Given the description of an element on the screen output the (x, y) to click on. 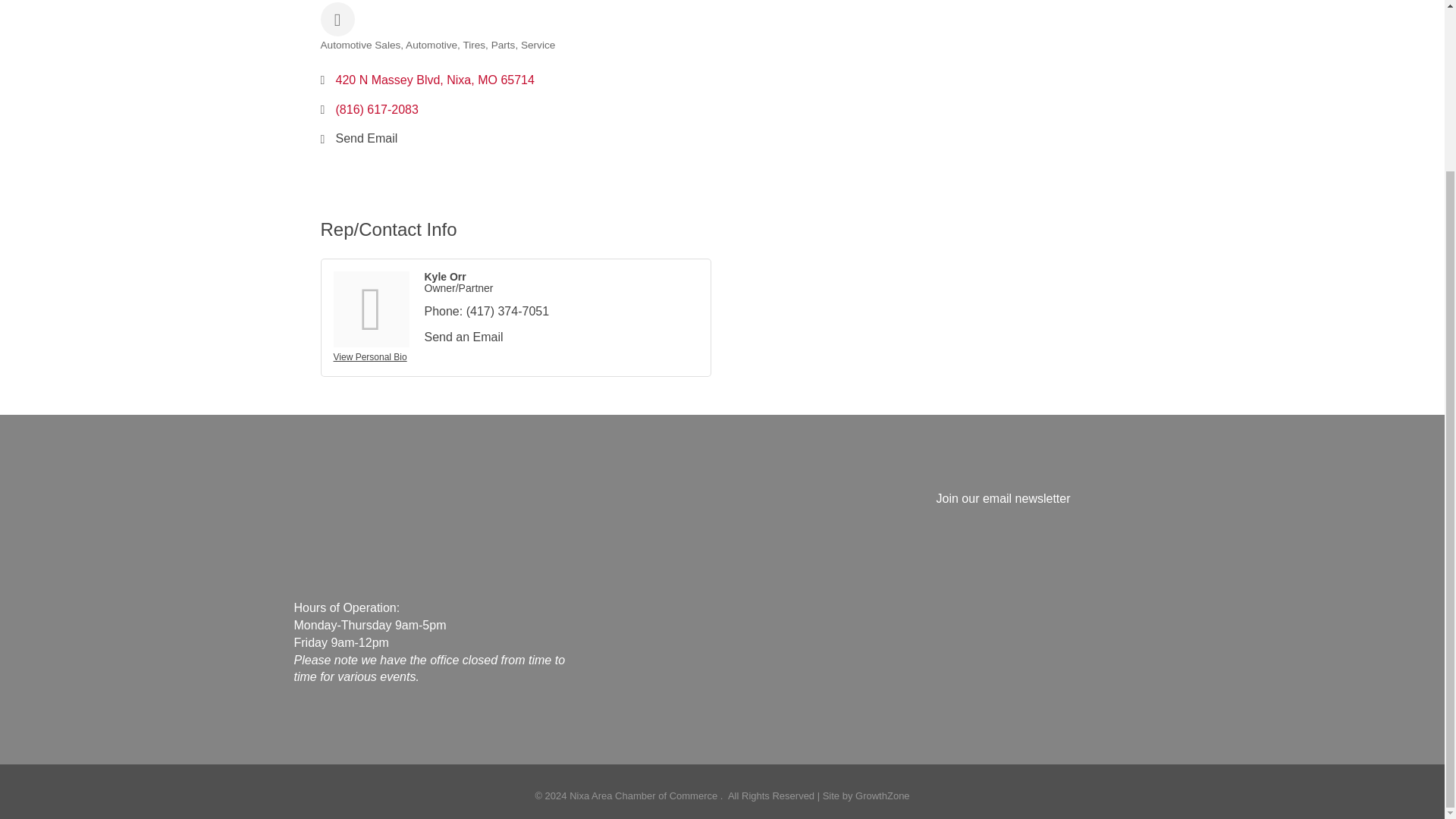
Send Email (365, 138)
420 N Massey Blvd Nixa MO 65714 (434, 79)
Send an Email (464, 336)
